Given the description of an element on the screen output the (x, y) to click on. 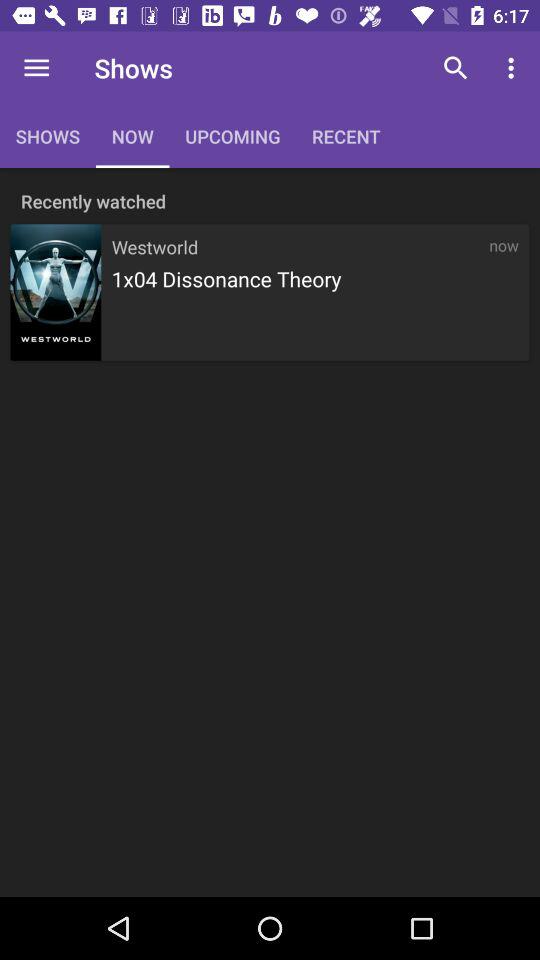
turn on icon above the now icon (513, 67)
